Given the description of an element on the screen output the (x, y) to click on. 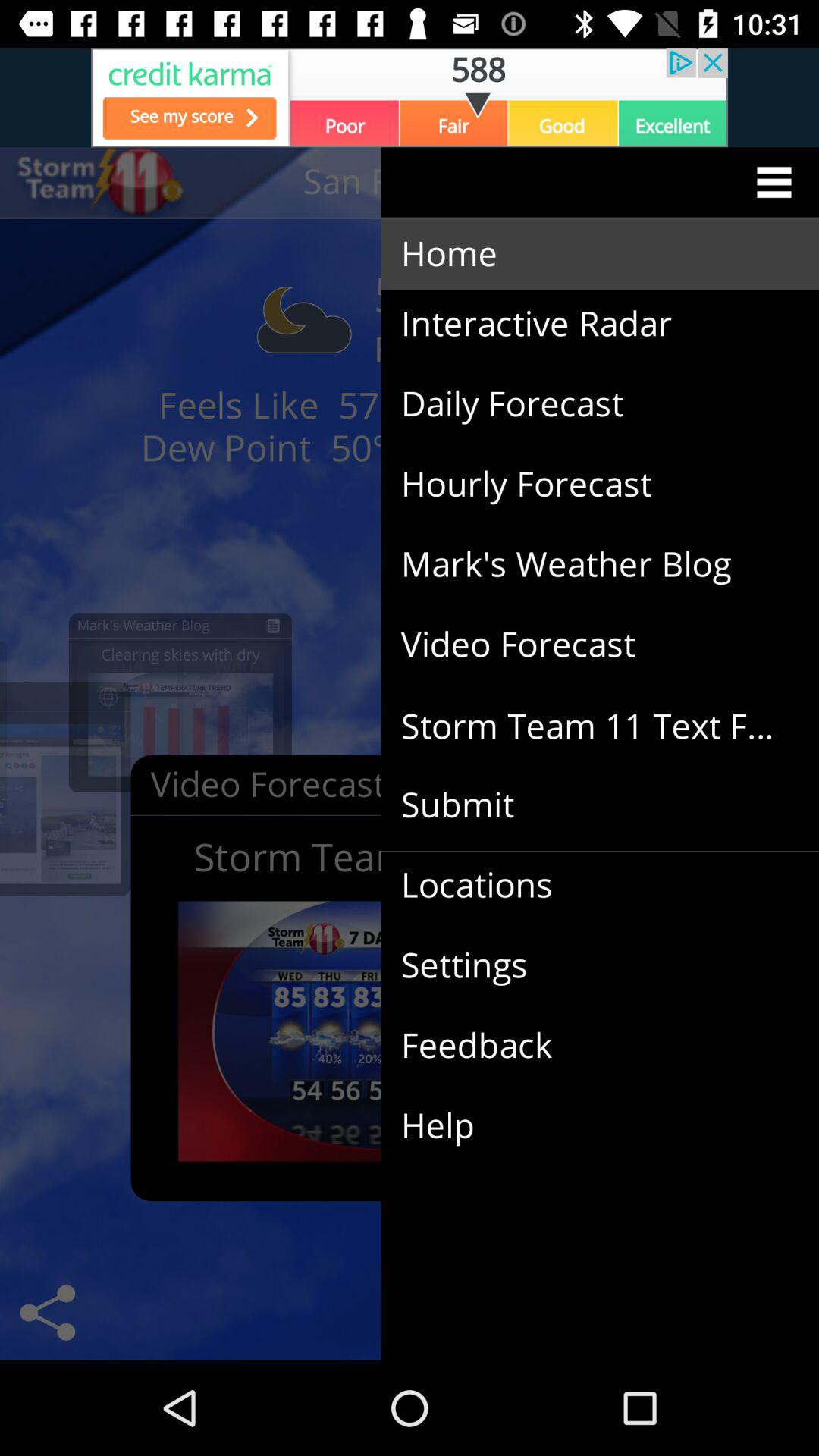
select the share icon which is in the left bottom of the page (47, 1312)
